Given the description of an element on the screen output the (x, y) to click on. 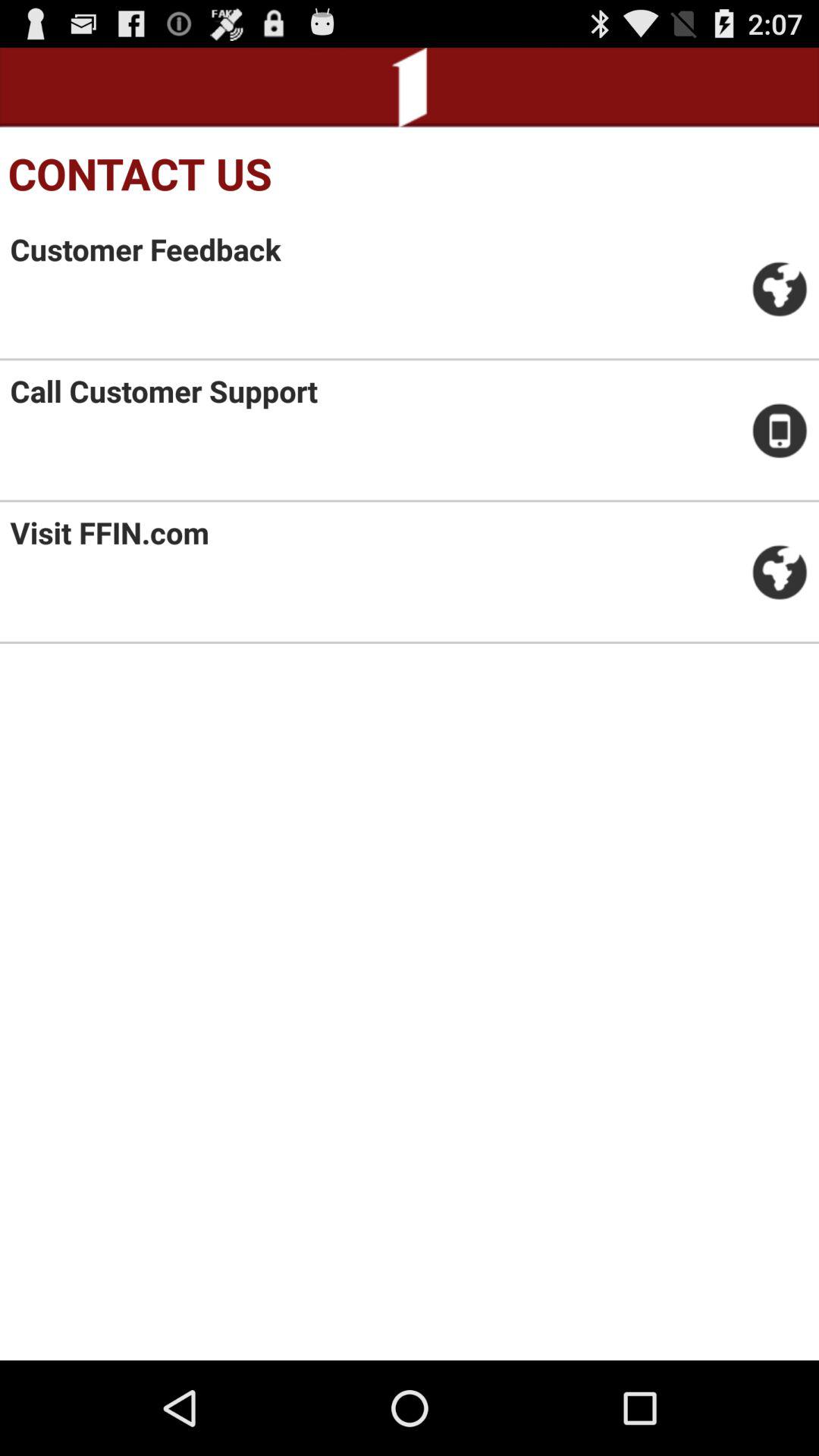
open the item above the visit ffin.com icon (163, 390)
